Given the description of an element on the screen output the (x, y) to click on. 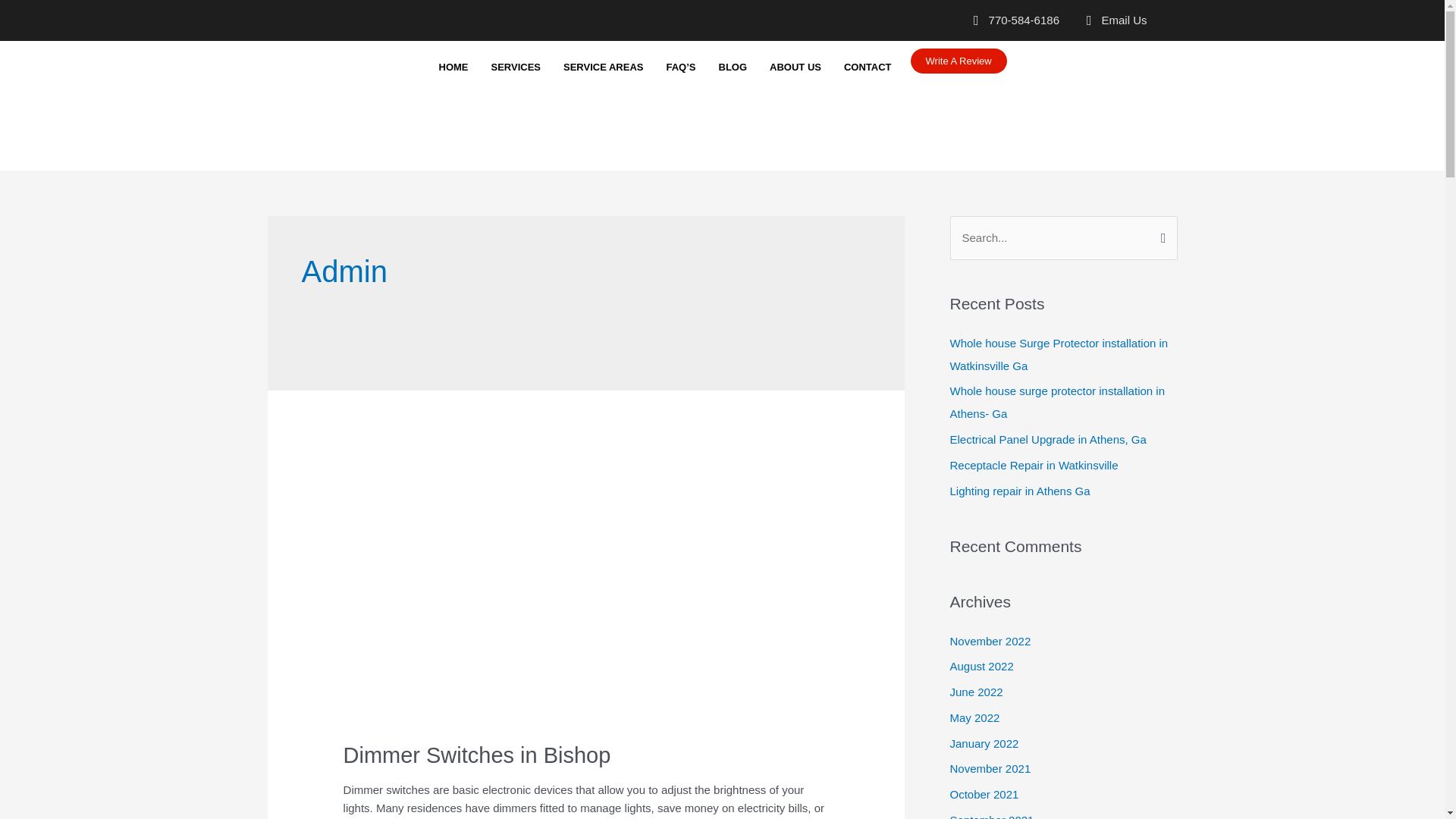
Search (1159, 231)
770-584-6186 (1009, 20)
SERVICE AREAS (602, 67)
SERVICES (515, 67)
Search (1159, 231)
BLOG (732, 67)
ABOUT US (795, 67)
HOME (454, 67)
Email Us (1110, 20)
CONTACT (867, 67)
